Given the description of an element on the screen output the (x, y) to click on. 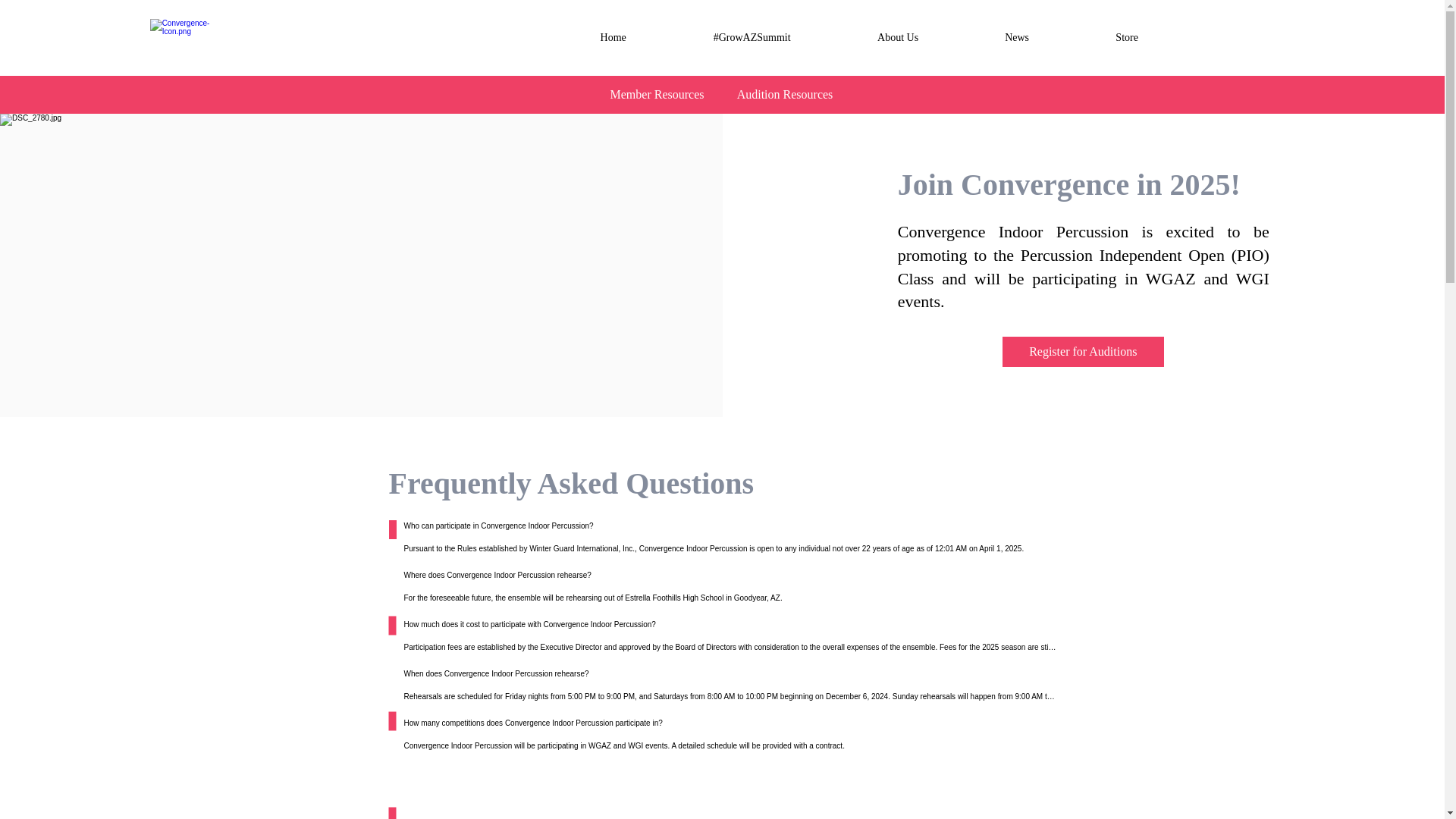
Home (612, 37)
Store (1125, 37)
News (1015, 37)
Register for Auditions (1083, 351)
Audition Resources (784, 94)
About Us (897, 37)
Member Resources (656, 94)
